Given the description of an element on the screen output the (x, y) to click on. 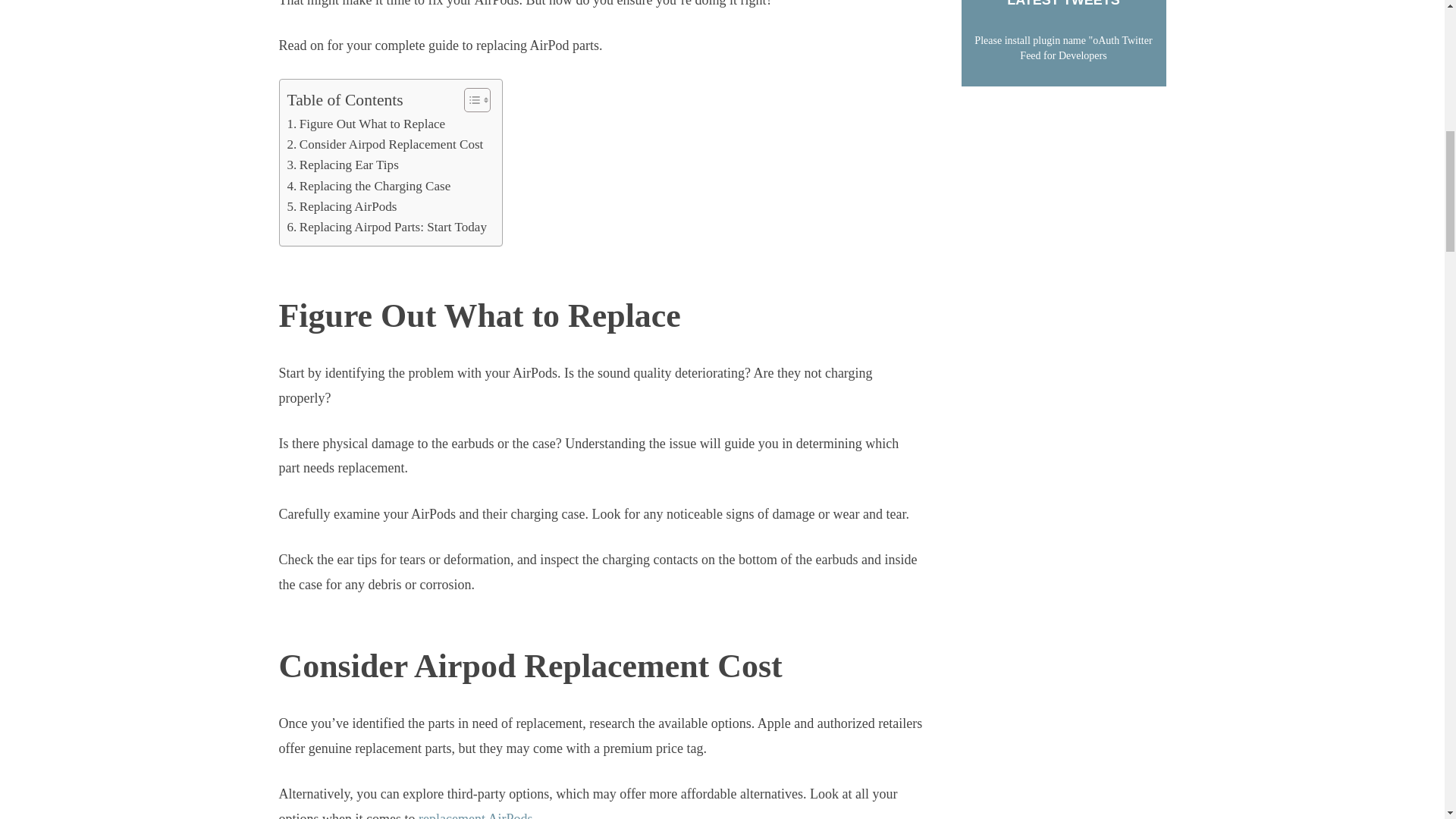
Replacing Airpod Parts: Start Today (386, 227)
Consider Airpod Replacement Cost (384, 144)
Replacing the Charging Case (367, 186)
Replacing Airpod Parts: Start Today (386, 227)
Replacing Ear Tips (341, 164)
Replacing Ear Tips (341, 164)
replacement AirPods (475, 815)
Replacing the Charging Case (367, 186)
Figure Out What to Replace (365, 123)
Replacing AirPods (341, 206)
Consider Airpod Replacement Cost (384, 144)
Replacing AirPods (341, 206)
Figure Out What to Replace (365, 123)
